Given the description of an element on the screen output the (x, y) to click on. 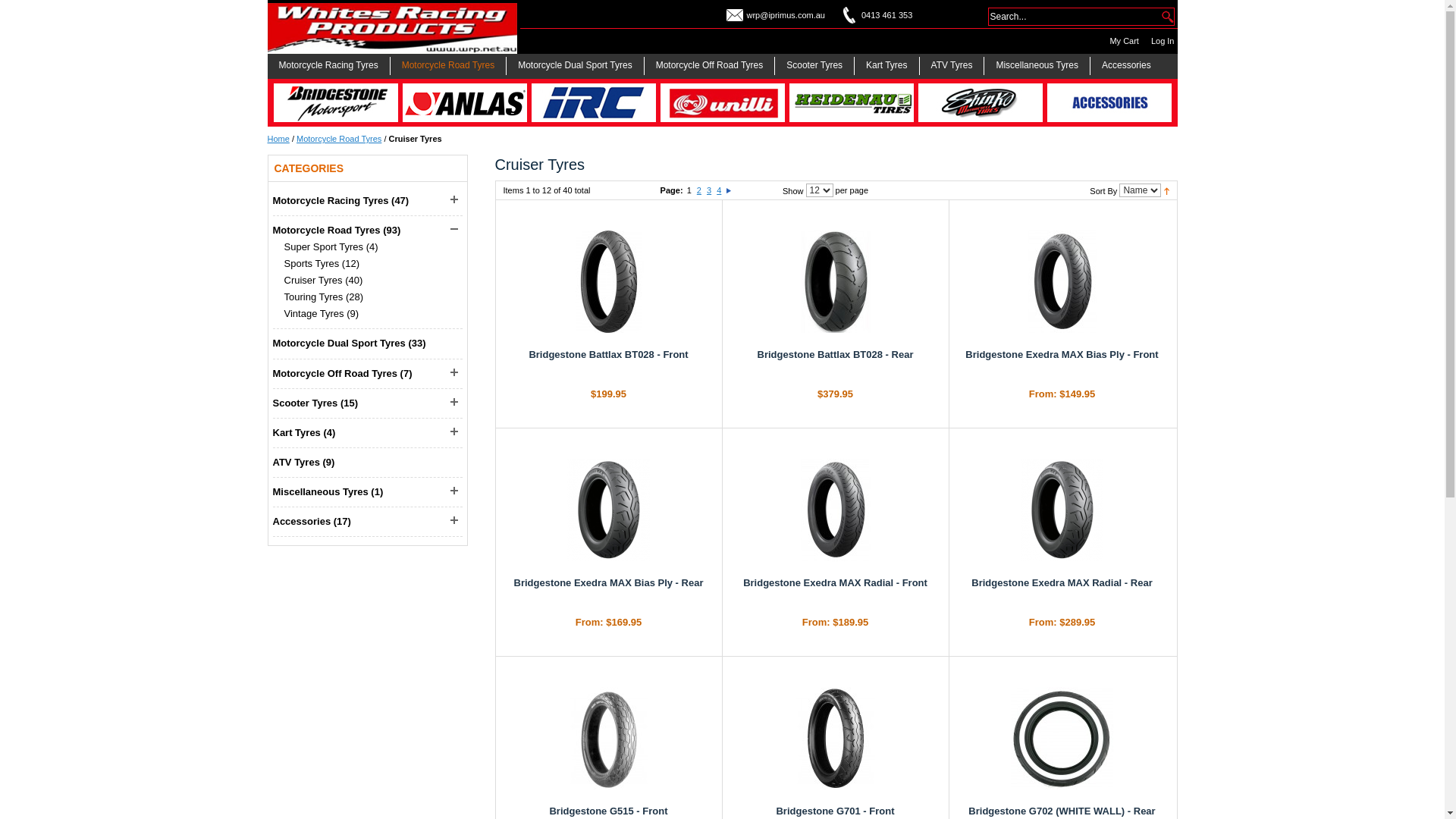
4 Element type: text (718, 189)
Bridgestone Exedra MAX Radial - Rear Element type: hover (1062, 509)
Motorcycle Road Tyres Element type: text (448, 65)
Log In Element type: text (1162, 40)
Set Descending Direction Element type: hover (1165, 189)
Cruiser Tyres Element type: text (312, 279)
Bridgestone Exedra MAX Radial - Front Element type: text (835, 582)
Motorcycle Racing Tyres Element type: text (331, 200)
Bridgestone Battlax BT028 - Rear Element type: text (835, 354)
Super Sport Tyres Element type: text (323, 246)
Bridgestone Exedra MAX Radial - Front Element type: hover (834, 509)
2 Element type: text (698, 189)
Bridgestone Exedra MAX Bias Ply - Front Element type: hover (1062, 281)
ATV Tyres Element type: text (952, 65)
Bridgestone G702 (WHITE WALL) - Rear Element type: text (1061, 810)
Motorcycle Off Road Tyres Element type: text (335, 372)
Motorcycle Dual Sport Tyres Element type: text (575, 65)
Bridgestone Battlax BT028 - Rear Element type: hover (834, 281)
Home Element type: text (277, 138)
ATV Tyres Element type: text (296, 461)
Bridgestone Battlax BT028 - Front Element type: text (607, 354)
Scooter Tyres Element type: text (814, 65)
Sports Tyres Element type: text (312, 263)
Accessories Element type: text (1126, 65)
Bridgestone Exedra MAX Radial - Rear Element type: text (1061, 582)
Bridgestone G515 - Front Element type: text (608, 810)
Miscellaneous Tyres Element type: text (320, 491)
Scooter Tyres Element type: text (305, 402)
Motorcycle Road Tyres Element type: text (338, 138)
Motorcycle Dual Sport Tyres Element type: text (339, 342)
Bridgestone G515 - Front Element type: hover (608, 738)
Bridgestone G702 (WHITE WALL) - Rear Element type: hover (1062, 738)
Bridgestone G701 - Front Element type: hover (834, 738)
Bridgestone Exedra MAX Bias Ply - Rear Element type: text (608, 582)
Next Element type: hover (728, 189)
Kart Tyres Element type: text (296, 432)
Bridgestone Exedra MAX Bias Ply - Rear Element type: hover (608, 509)
Miscellaneous Tyres Element type: text (1037, 65)
Motorcycle Off Road Tyres Element type: text (709, 65)
Bridgestone G701 - Front Element type: text (834, 810)
My Cart Element type: text (1124, 40)
Motorcycle Road Tyres Element type: text (326, 229)
Accessories Element type: text (302, 521)
Bridgestone Exedra MAX Bias Ply - Front Element type: text (1061, 354)
Motorcycle Racing Tyres Element type: text (327, 65)
Touring Tyres Element type: text (312, 296)
3 Element type: text (708, 189)
Vintage Tyres Element type: text (313, 313)
wrp@iprimus.com.au Element type: text (785, 14)
Kart Tyres Element type: text (886, 65)
Bridgestone Battlax BT028 - Front Element type: hover (608, 281)
